Given the description of an element on the screen output the (x, y) to click on. 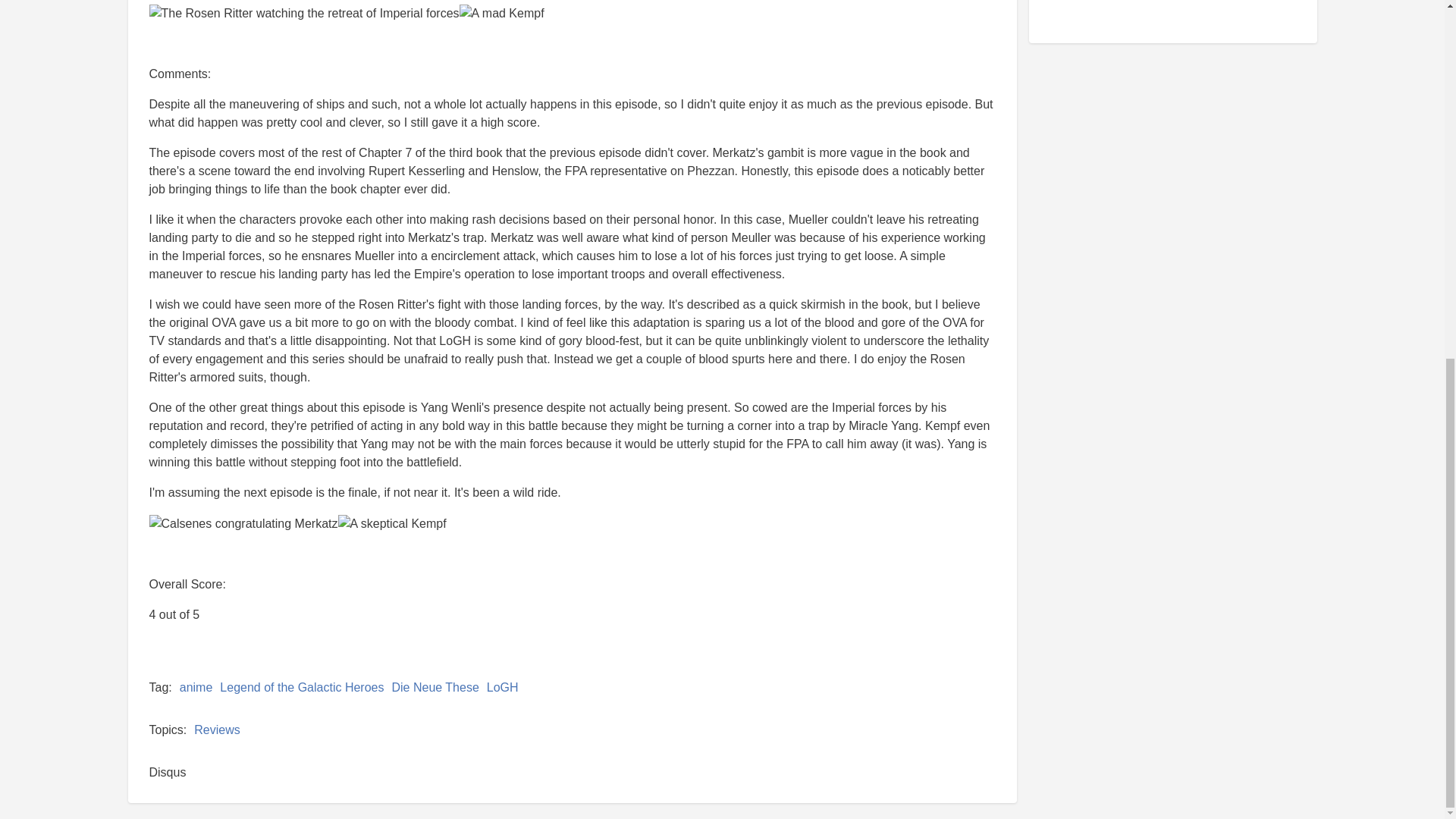
Legend of the Galactic Heroes (301, 686)
Die Neue These (435, 686)
anime (195, 686)
Reviews (216, 729)
LoGH (502, 686)
